Given the description of an element on the screen output the (x, y) to click on. 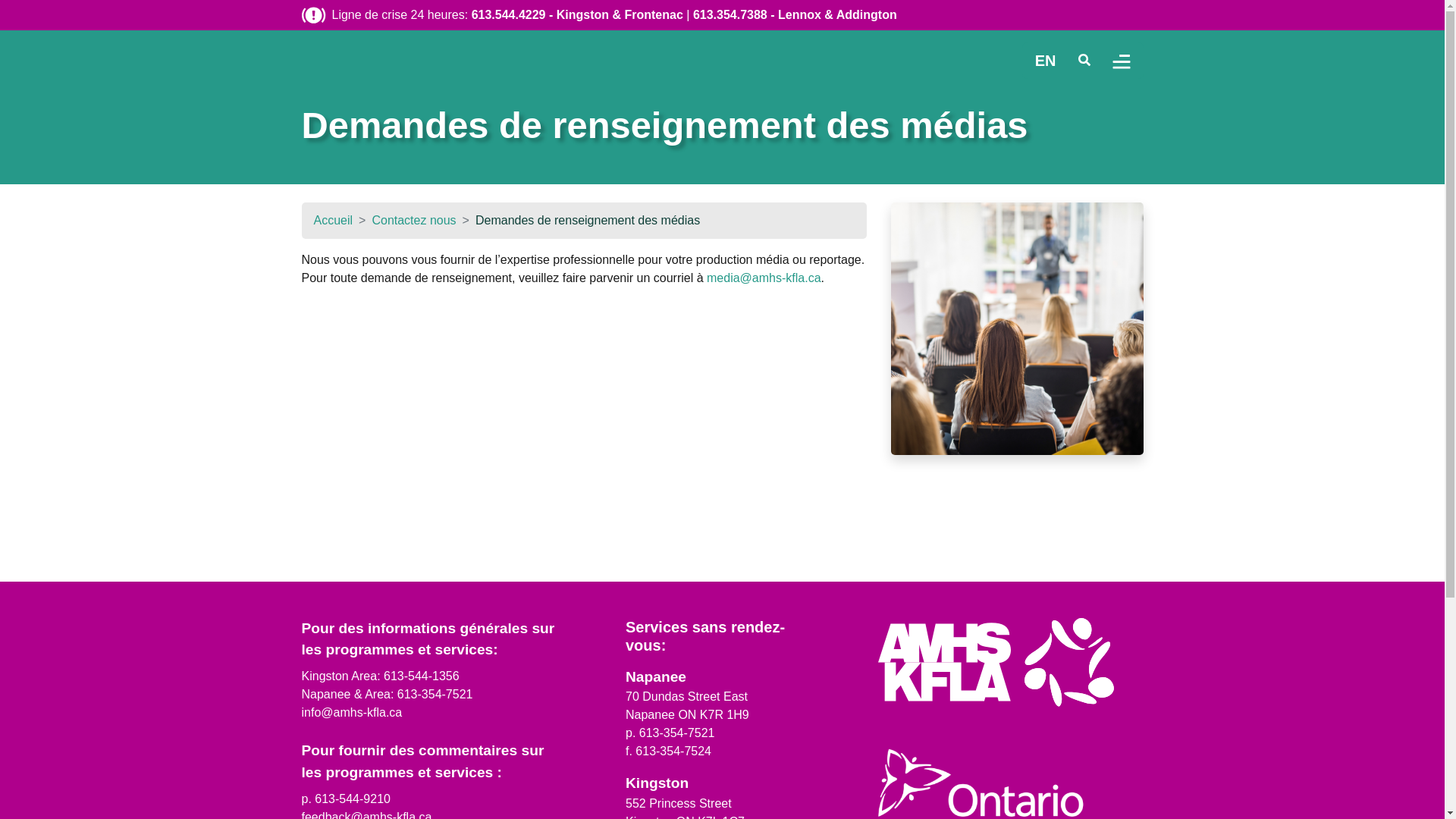
media@amhs-kfla.ca Element type: text (763, 277)
Toggle Menu Element type: text (1121, 60)
EN Element type: text (1045, 60)
Search Element type: text (1083, 60)
Contactez nous Element type: text (413, 219)
info@amhs-kfla.ca Element type: text (351, 712)
Accueil Element type: text (333, 219)
